Given the description of an element on the screen output the (x, y) to click on. 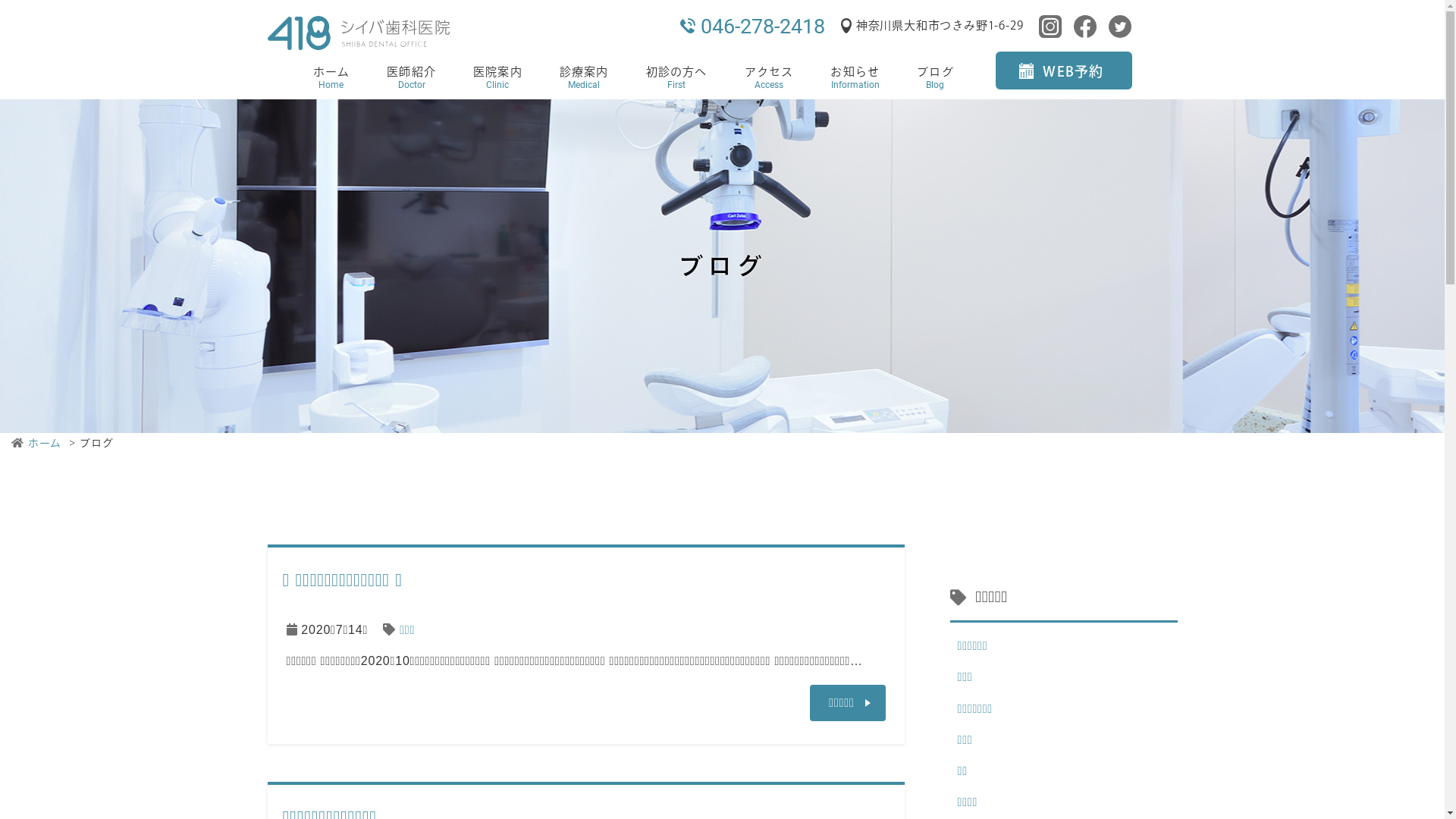
046-278-2418 Element type: text (762, 26)
